Given the description of an element on the screen output the (x, y) to click on. 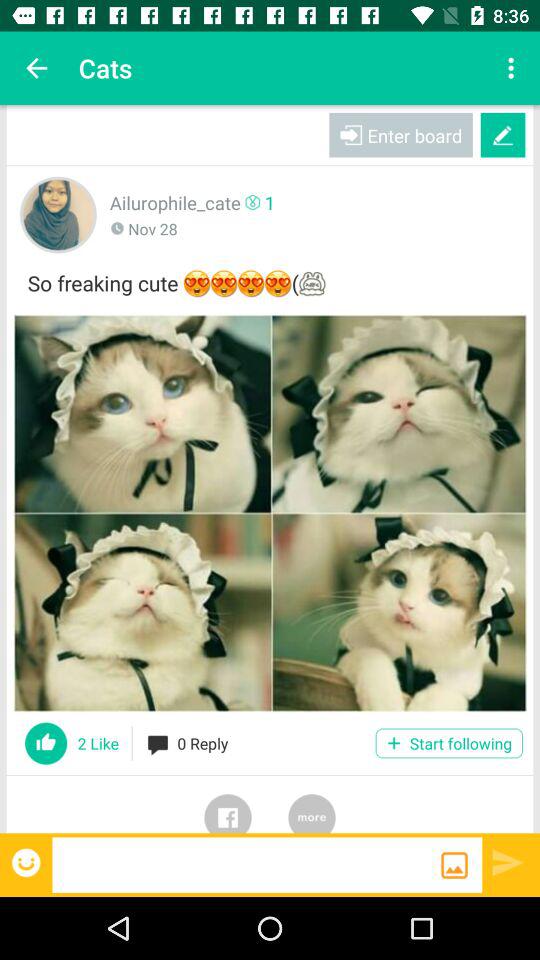
jump to the so freaking cute icon (269, 280)
